Given the description of an element on the screen output the (x, y) to click on. 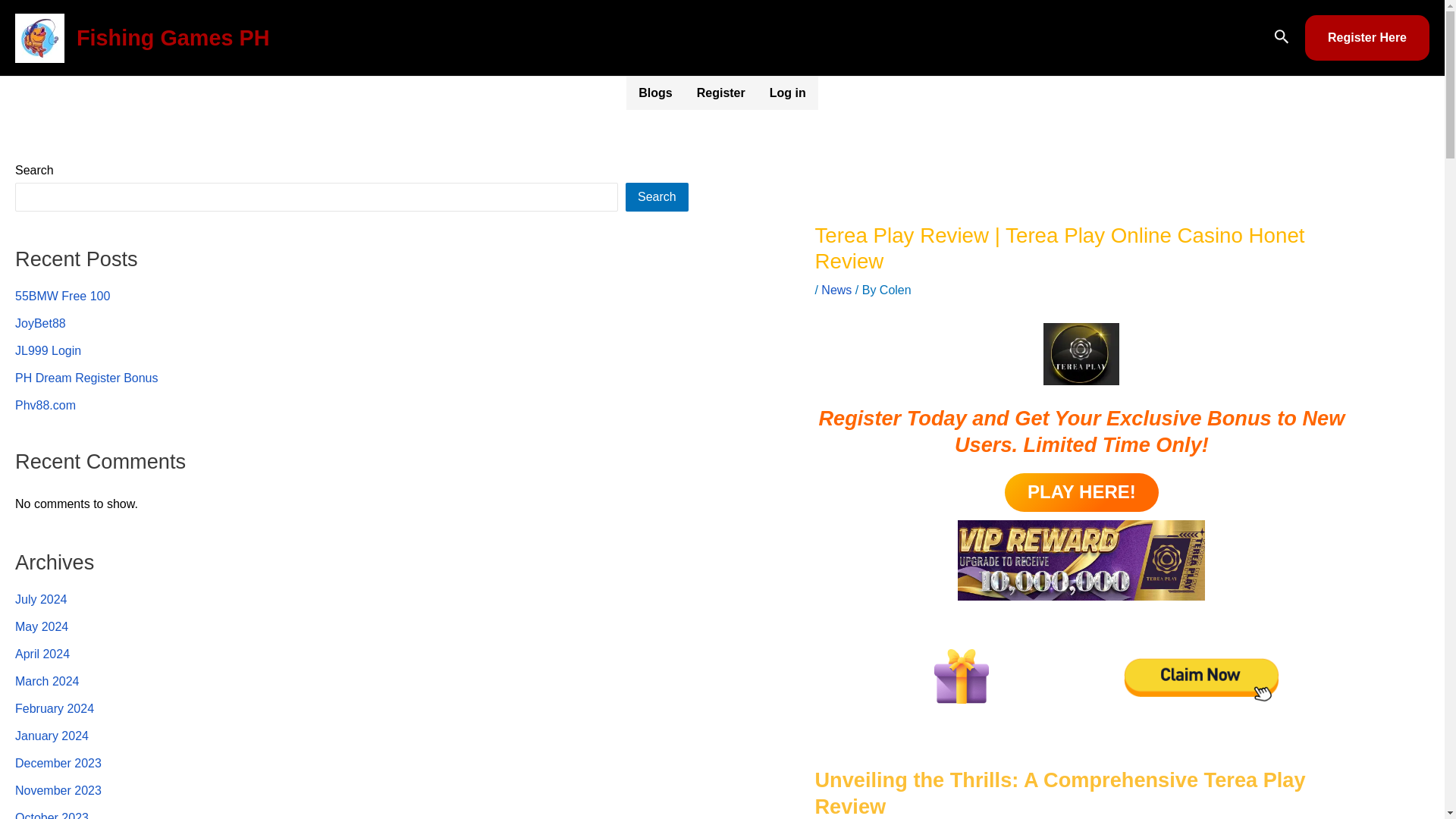
Log in (787, 92)
Blogs (655, 92)
Register (720, 92)
View all posts by Colen (895, 289)
Register Here (1366, 37)
Fishing Games PH (173, 37)
